Given the description of an element on the screen output the (x, y) to click on. 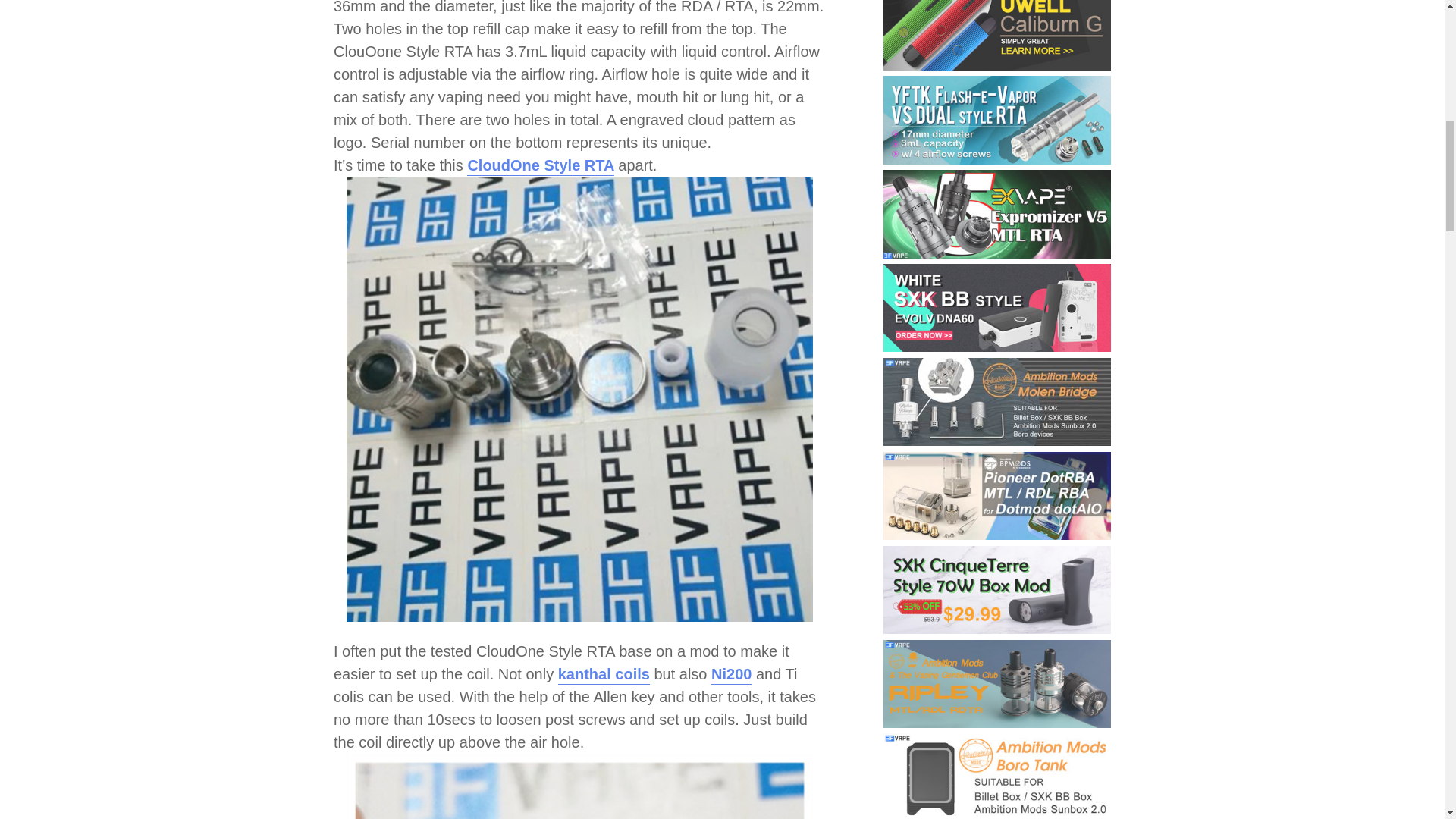
Ni200 (731, 674)
CloudOne Style RTA (539, 166)
kanthal coils (603, 674)
